Given the description of an element on the screen output the (x, y) to click on. 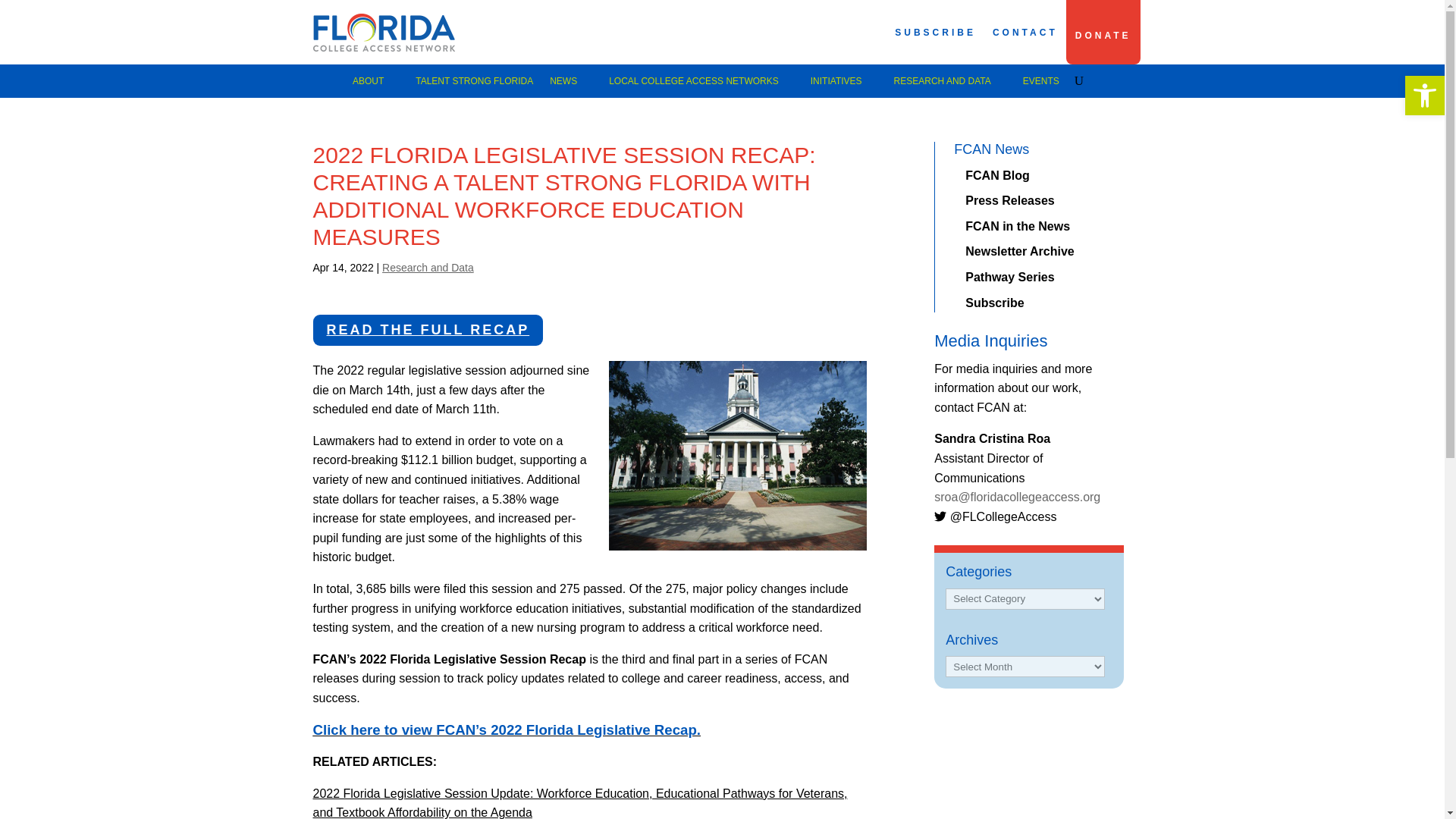
Accessibility Tools (1424, 95)
